Given the description of an element on the screen output the (x, y) to click on. 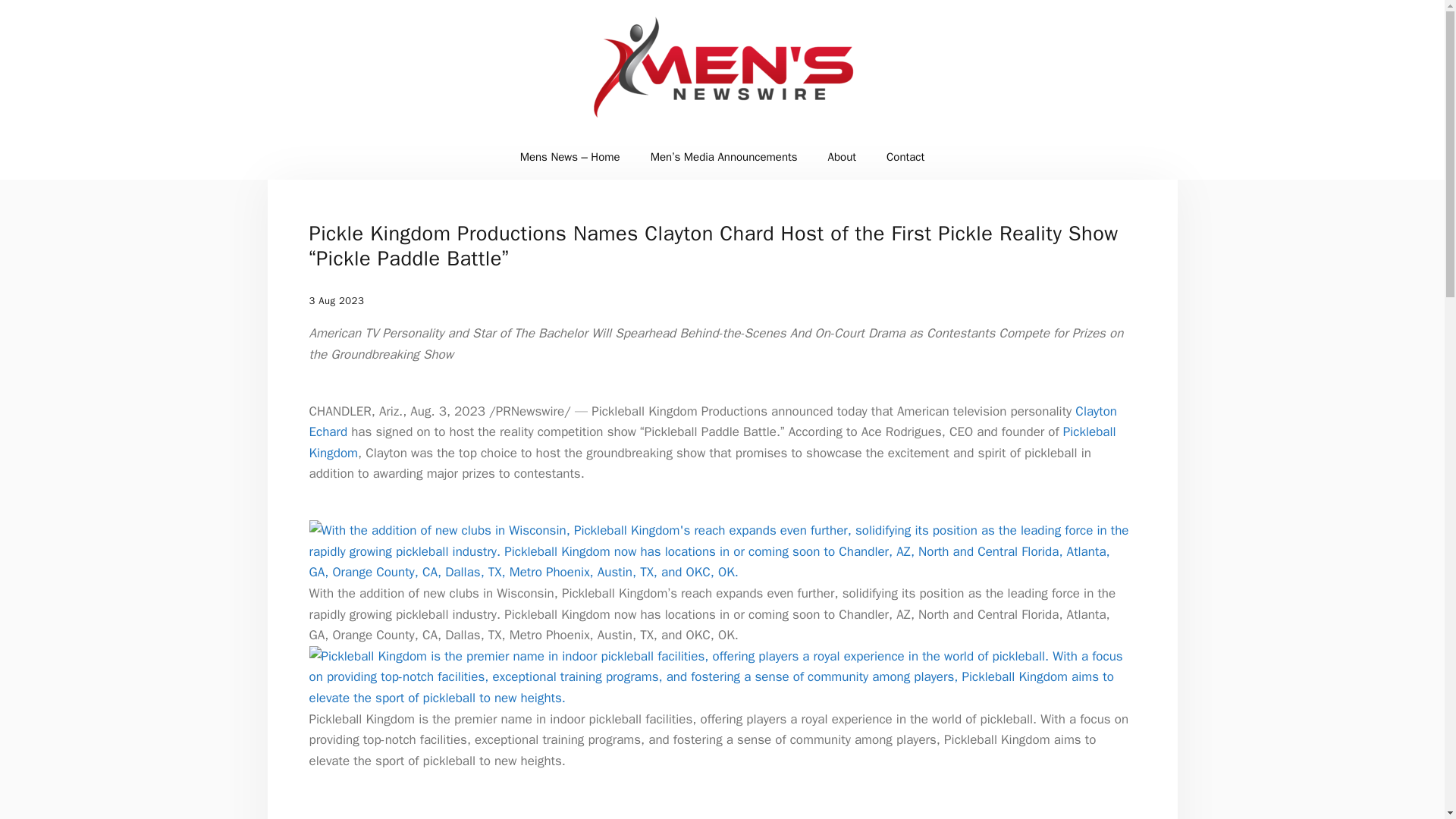
About (841, 156)
Contact (904, 156)
Clayton Echard (713, 421)
Pickleball Kingdom (712, 442)
